Given the description of an element on the screen output the (x, y) to click on. 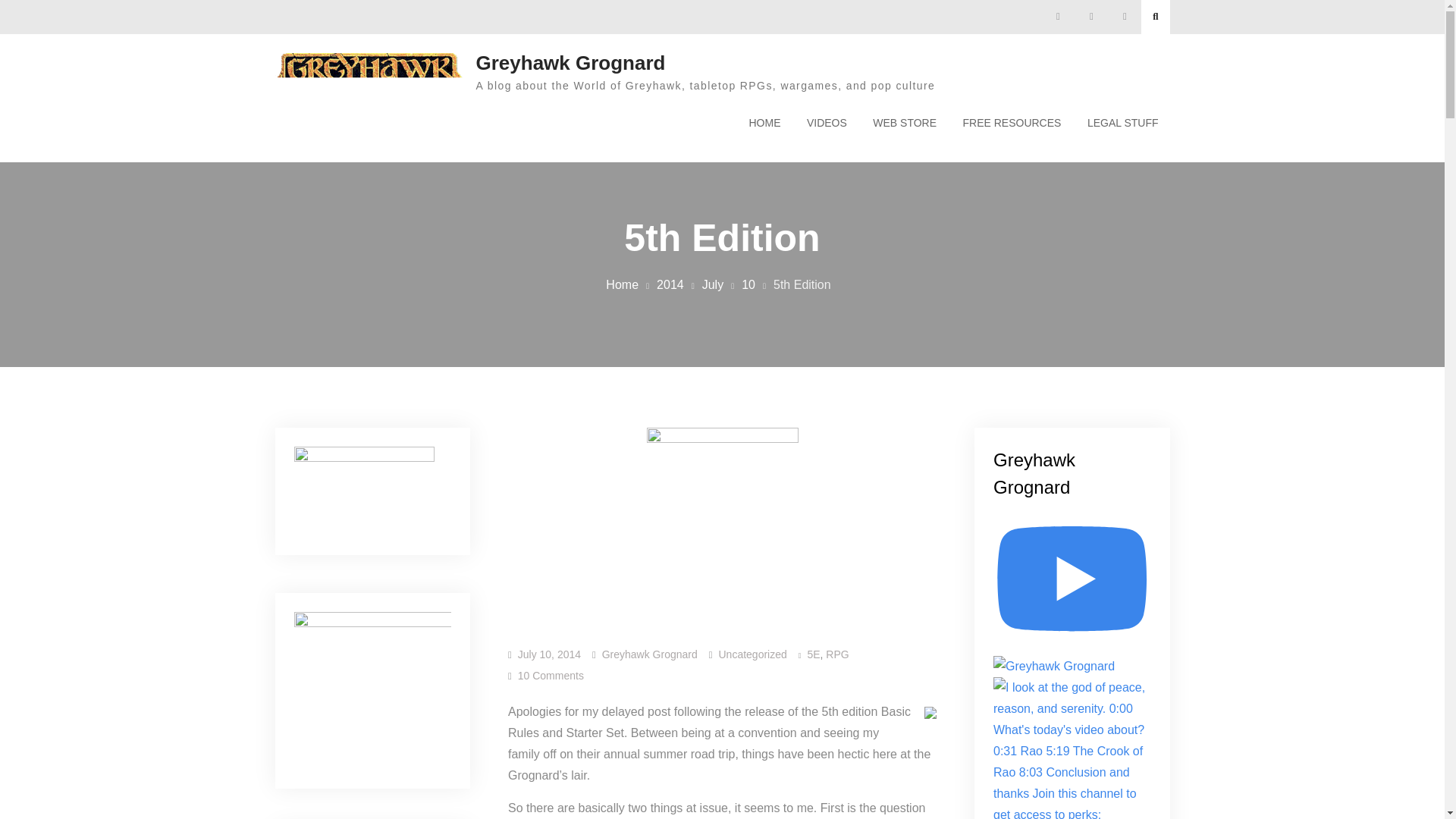
LEGAL STUFF (1122, 123)
FREE RESOURCES (1010, 123)
2014 (670, 284)
Greyhawk Grognard (649, 654)
HOME (764, 123)
Home (622, 284)
RPG (836, 654)
July 10, 2014 (549, 654)
Greyhawk Grognard (570, 62)
